Given the description of an element on the screen output the (x, y) to click on. 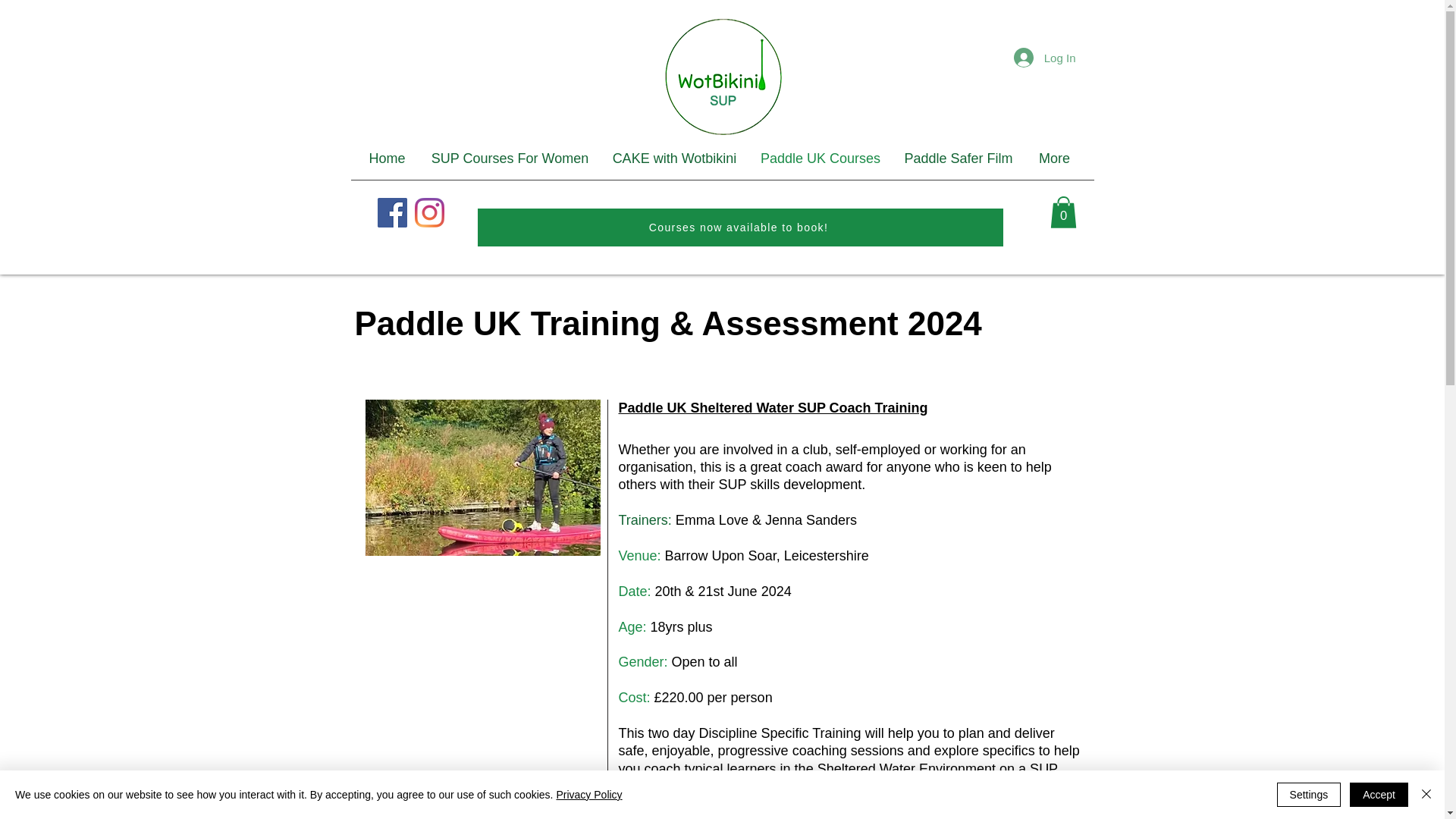
Courses now available to book! (740, 227)
Accept (1378, 794)
SUP Courses For Women (509, 158)
Paddle UK Courses (820, 158)
CAKE with Wotbikini (674, 158)
Paddle Safer Film (958, 158)
Log In (1044, 57)
Home (387, 158)
Settings (1308, 794)
Privacy Policy (588, 794)
